Given the description of an element on the screen output the (x, y) to click on. 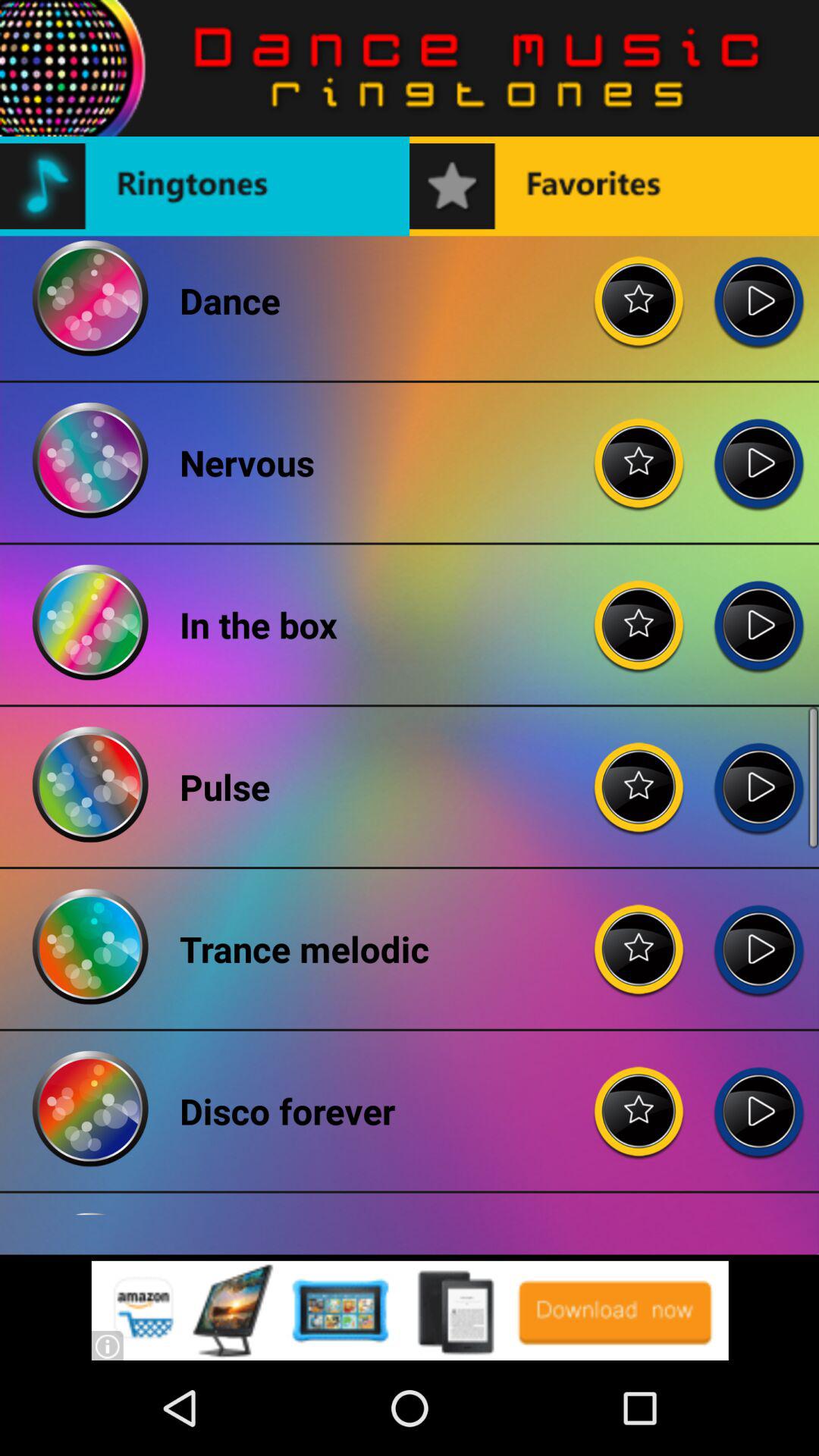
play pulse audio (758, 775)
